Given the description of an element on the screen output the (x, y) to click on. 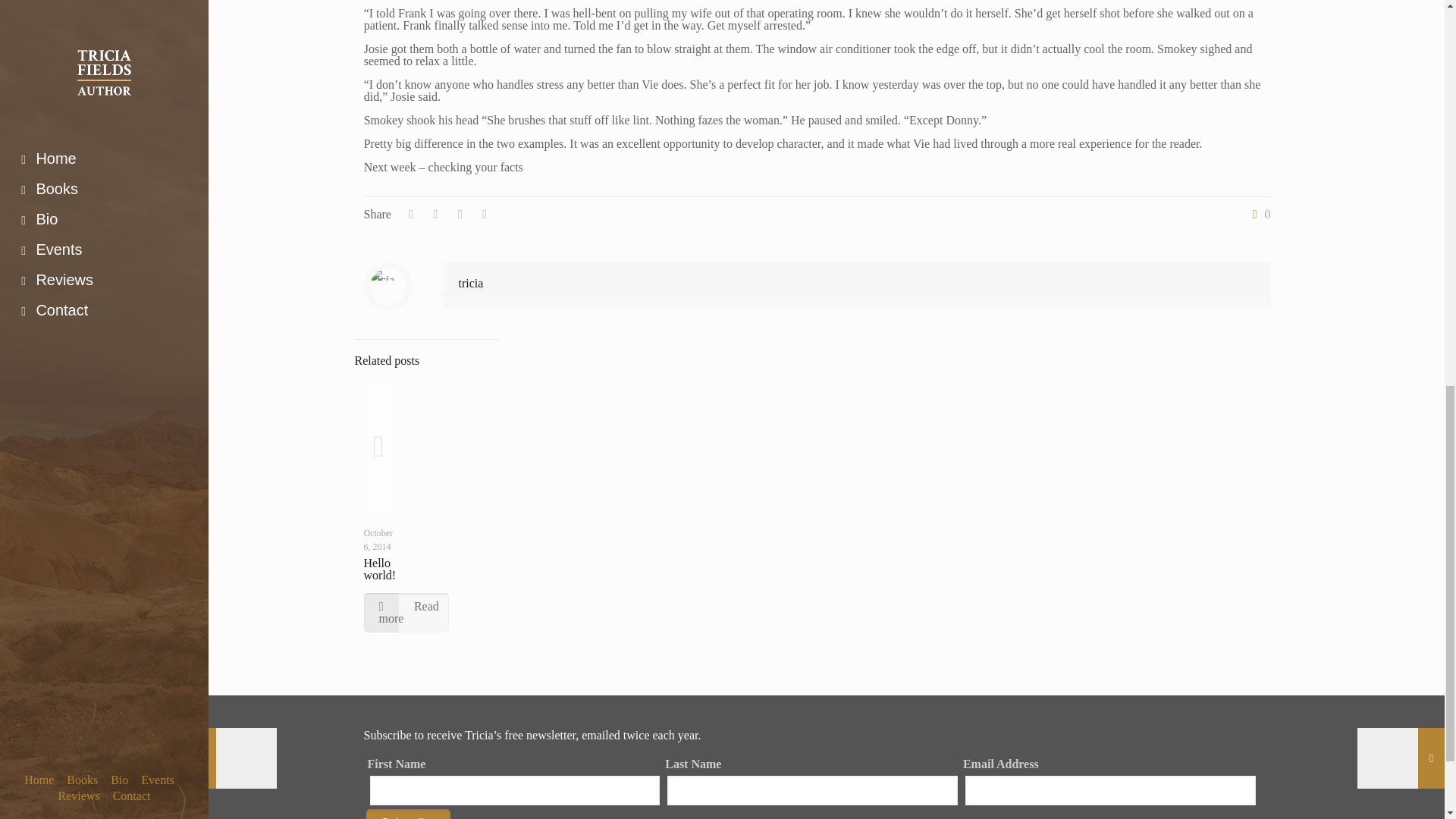
Subscribe (407, 814)
